Given the description of an element on the screen output the (x, y) to click on. 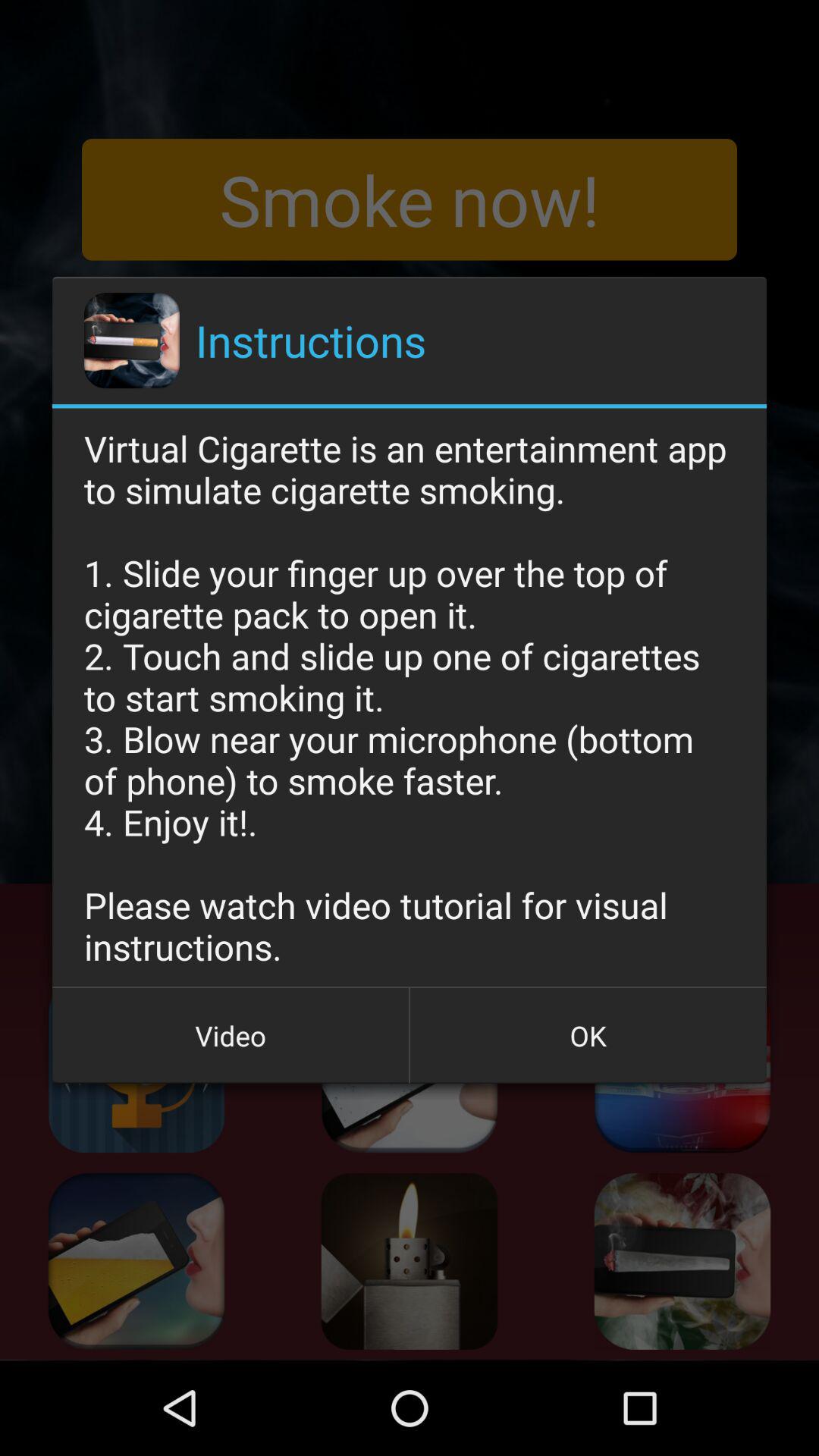
select the item next to ok button (230, 1035)
